Given the description of an element on the screen output the (x, y) to click on. 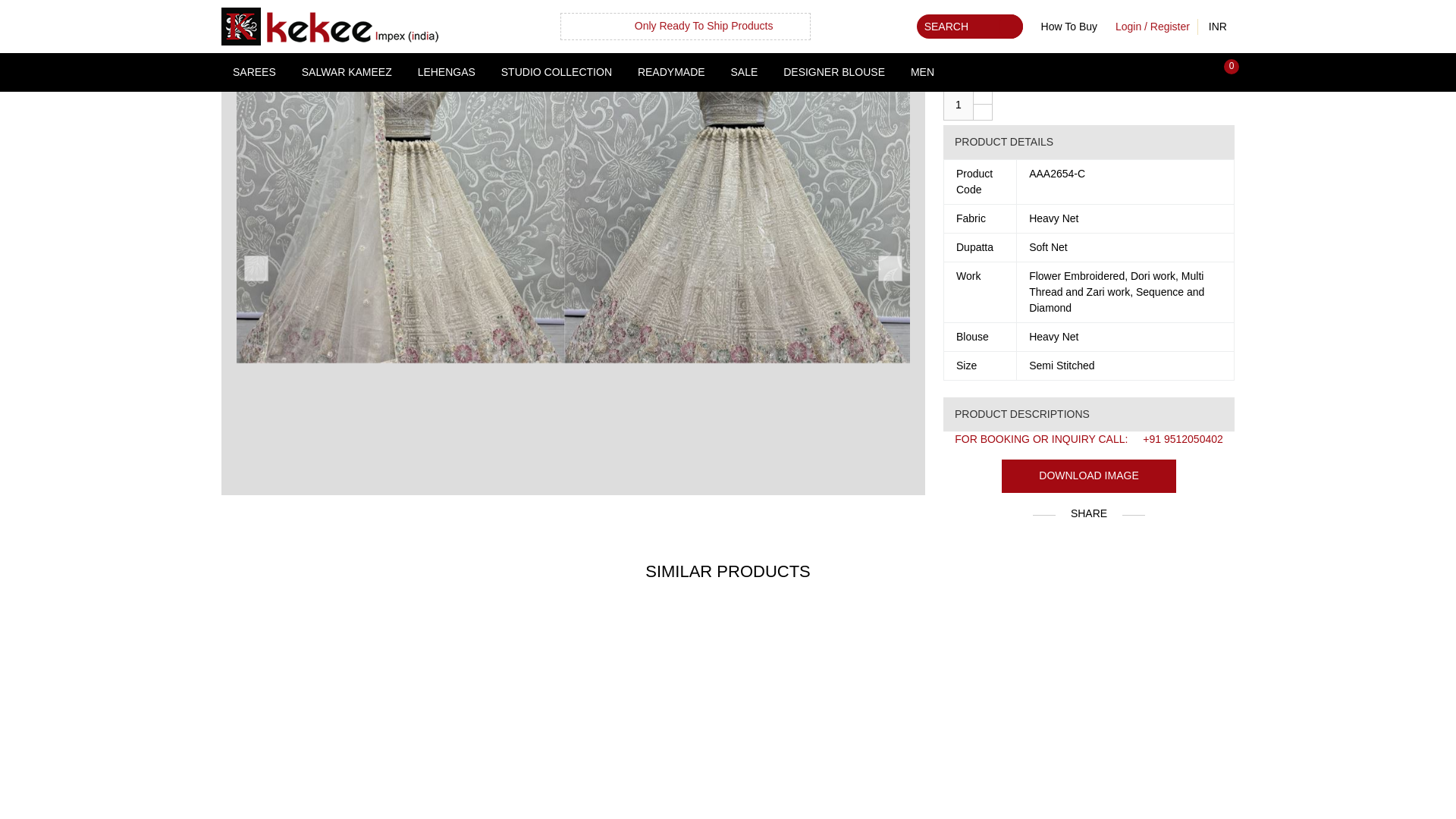
DESIGNER BLOUSE (833, 72)
MEN (921, 72)
LEHENGAS (446, 72)
How To Buy (1069, 25)
1 (958, 104)
kekee impex (329, 26)
READYMADE (671, 72)
SALE (743, 72)
SALWAR KAMEEZ (346, 72)
STUDIO COLLECTION (556, 72)
